Given the description of an element on the screen output the (x, y) to click on. 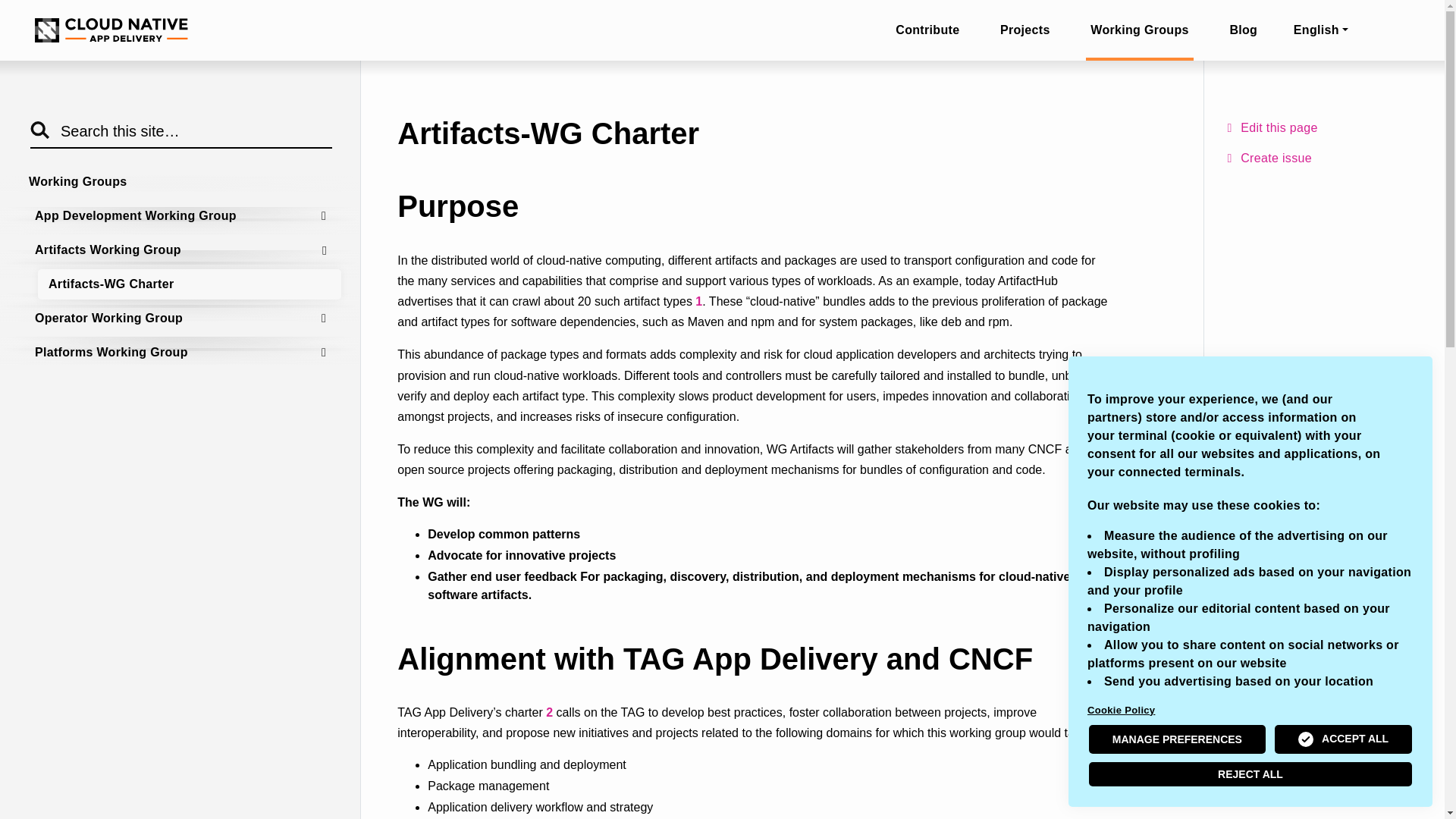
Working Groups (1138, 30)
Artifacts Working Group (182, 250)
Projects (1024, 30)
Blog (1243, 30)
Cookie Policy (1250, 709)
Operator Working Group (182, 318)
MANAGE PREFERENCES (1177, 738)
English (1327, 30)
Edit this page (1326, 127)
Platforms Working Group (182, 352)
App Development Working Group (182, 215)
Artifacts-WG Charter (188, 284)
REJECT ALL (1250, 774)
Working Groups (178, 182)
